Given the description of an element on the screen output the (x, y) to click on. 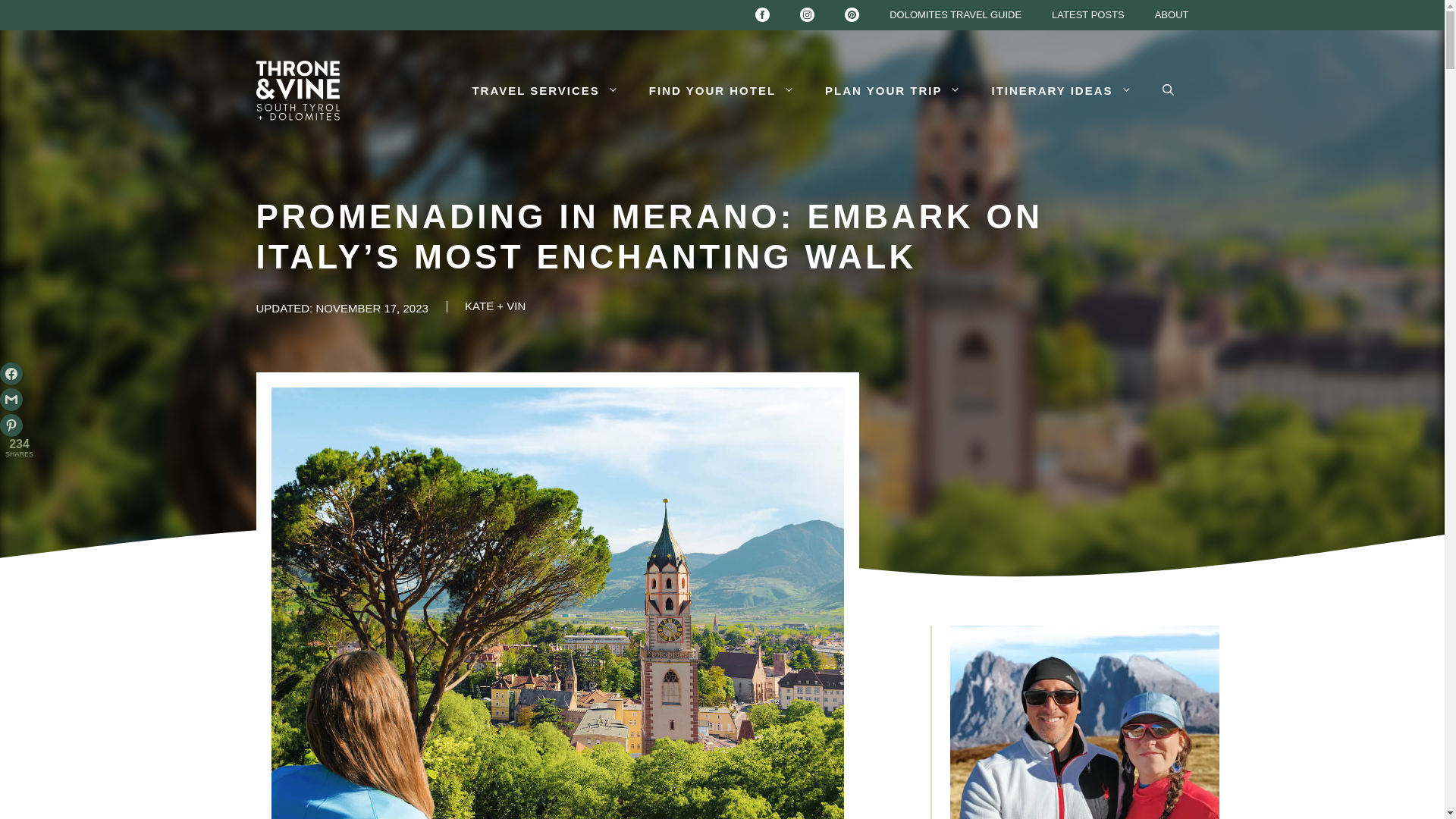
PLAN YOUR TRIP (892, 91)
ABOUT (1172, 15)
TRAVEL SERVICES (545, 91)
FIND YOUR HOTEL (721, 91)
DOLOMITES TRAVEL GUIDE (955, 15)
LATEST POSTS (1088, 15)
ITINERARY IDEAS (1061, 91)
